Given the description of an element on the screen output the (x, y) to click on. 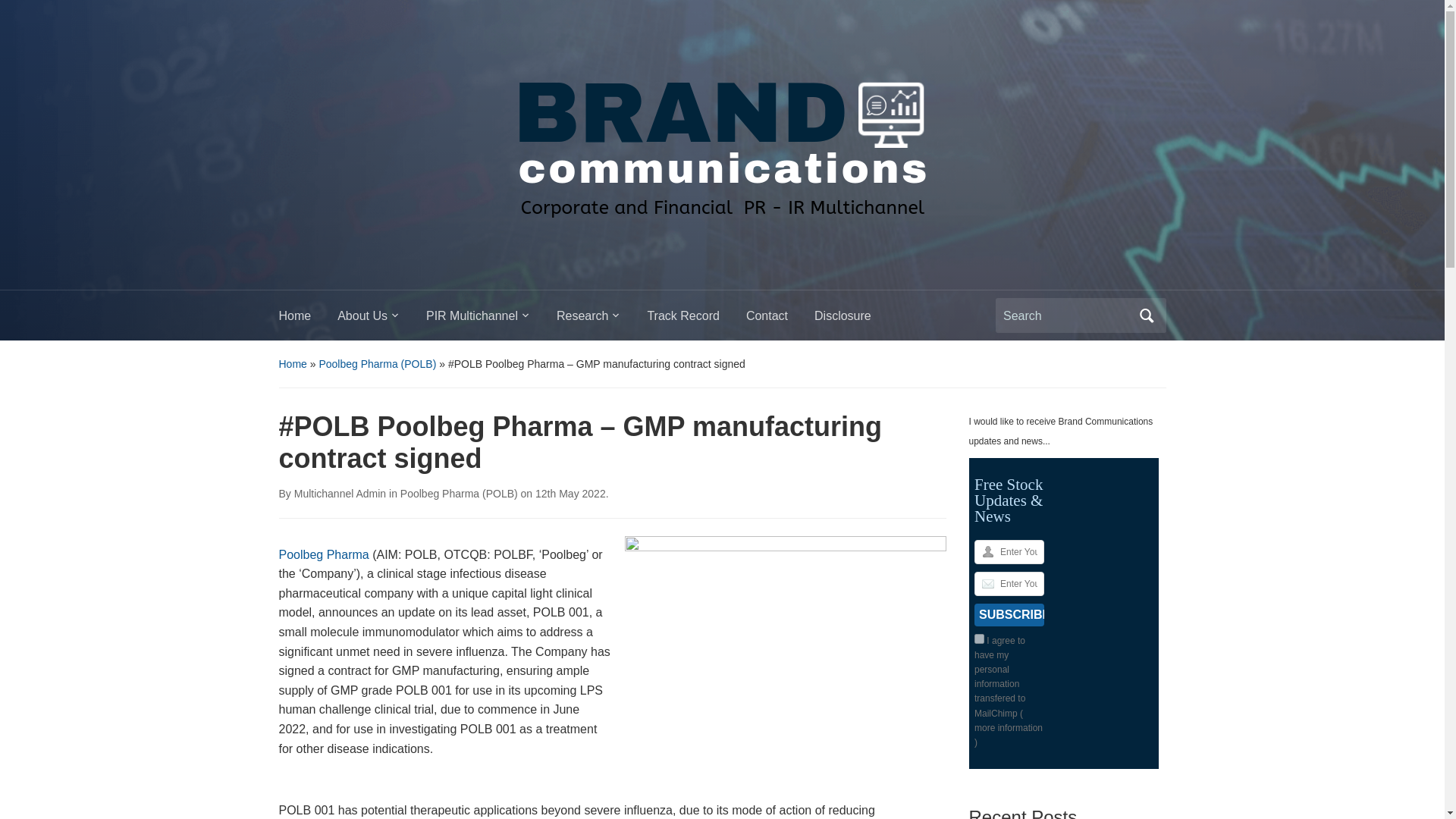
on (979, 638)
PIR Multichannel (491, 320)
View all posts by Multichannel Admin (339, 493)
Home (308, 320)
SUBSCRIBE HERE (1008, 614)
7:11 am (570, 493)
About Us (381, 320)
 -  (721, 139)
